Given the description of an element on the screen output the (x, y) to click on. 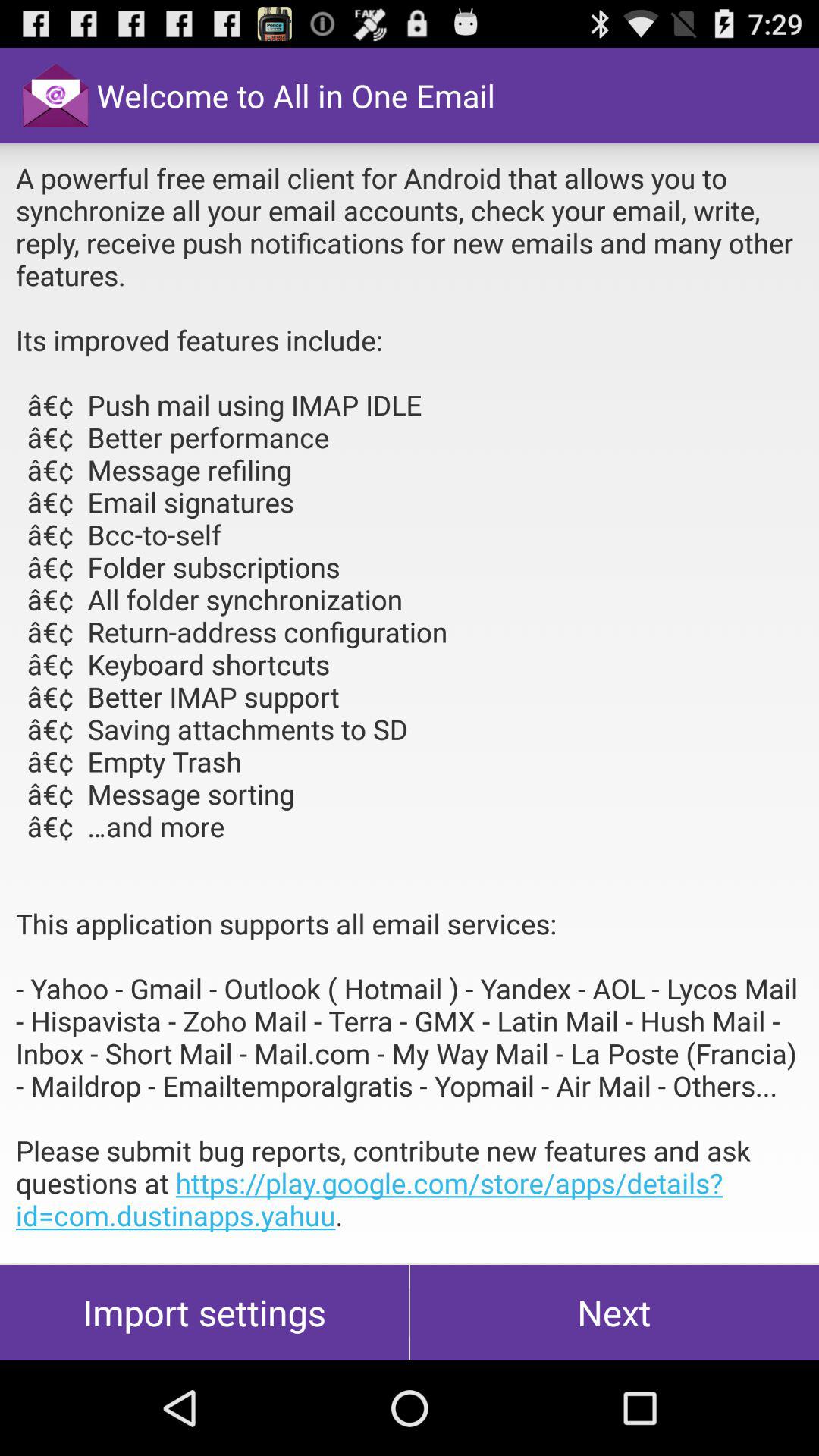
open the icon to the right of the import settings (614, 1312)
